Given the description of an element on the screen output the (x, y) to click on. 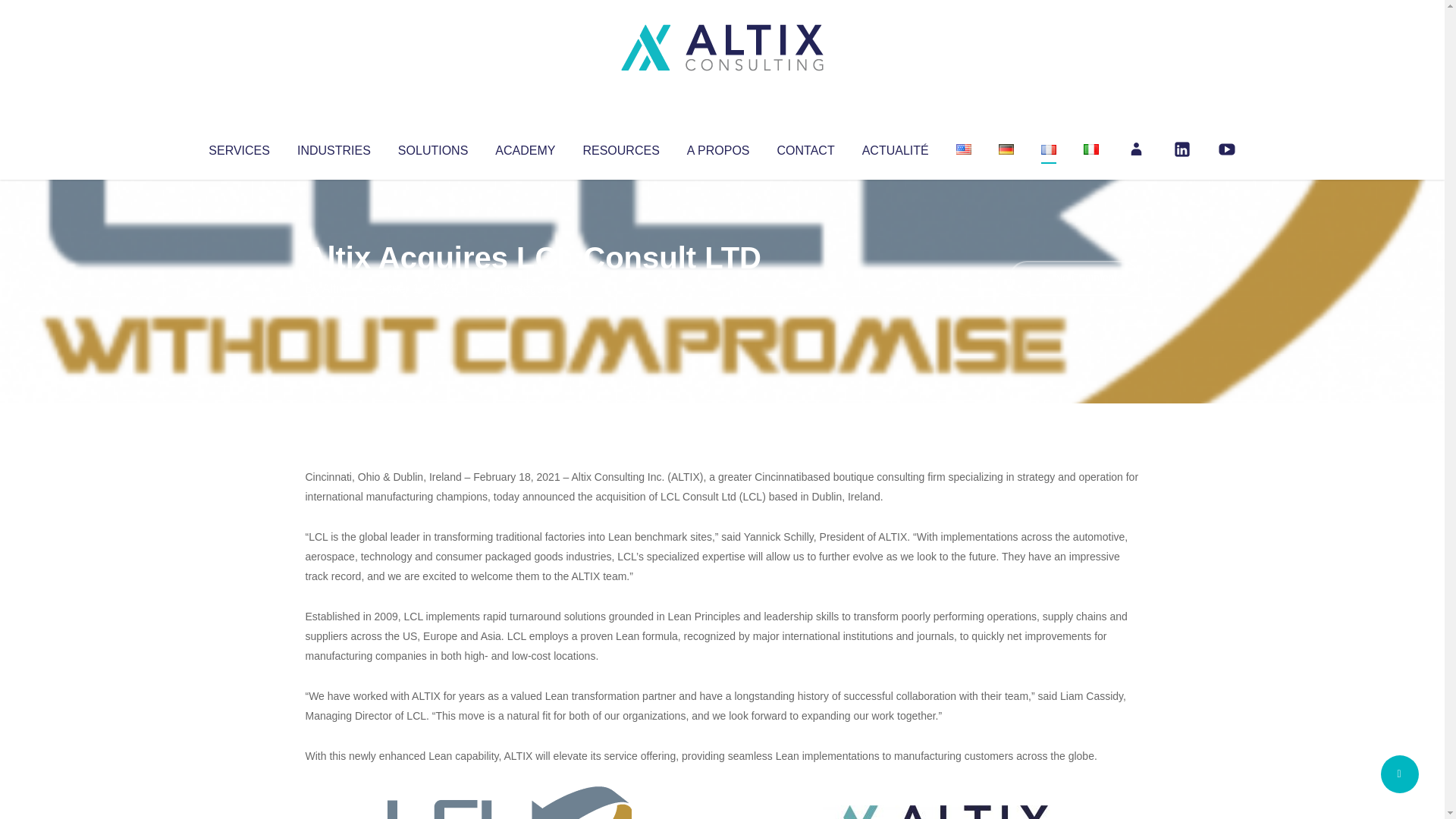
RESOURCES (620, 146)
Articles par Altix (333, 287)
ACADEMY (524, 146)
A PROPOS (718, 146)
Altix (333, 287)
SERVICES (238, 146)
No Comments (1073, 278)
SOLUTIONS (432, 146)
Uncategorized (530, 287)
INDUSTRIES (334, 146)
